Given the description of an element on the screen output the (x, y) to click on. 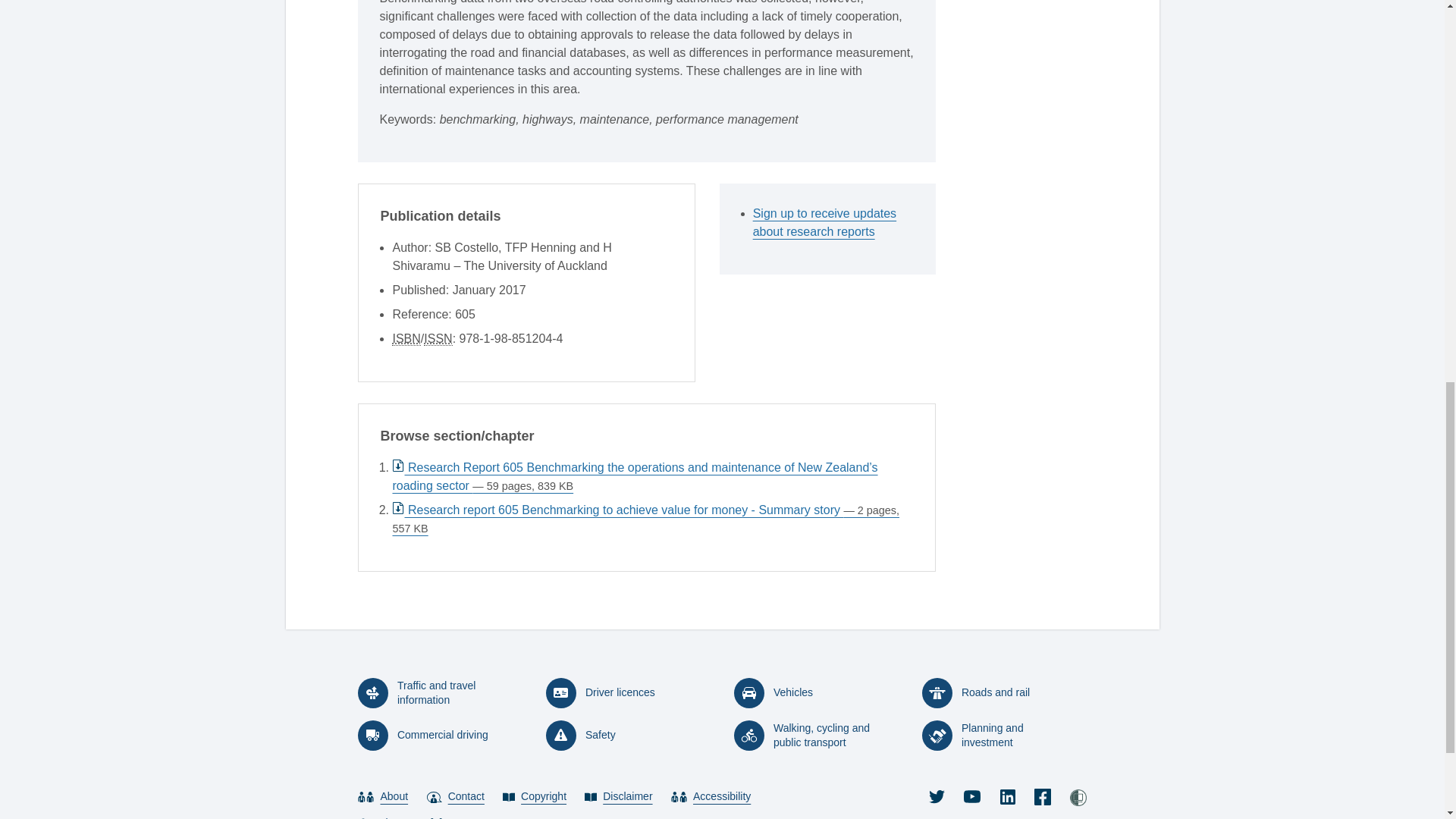
Sign up to receive updates about research reports (833, 222)
International Standard Serial Number (437, 338)
International Standard Book Number (405, 338)
